Given the description of an element on the screen output the (x, y) to click on. 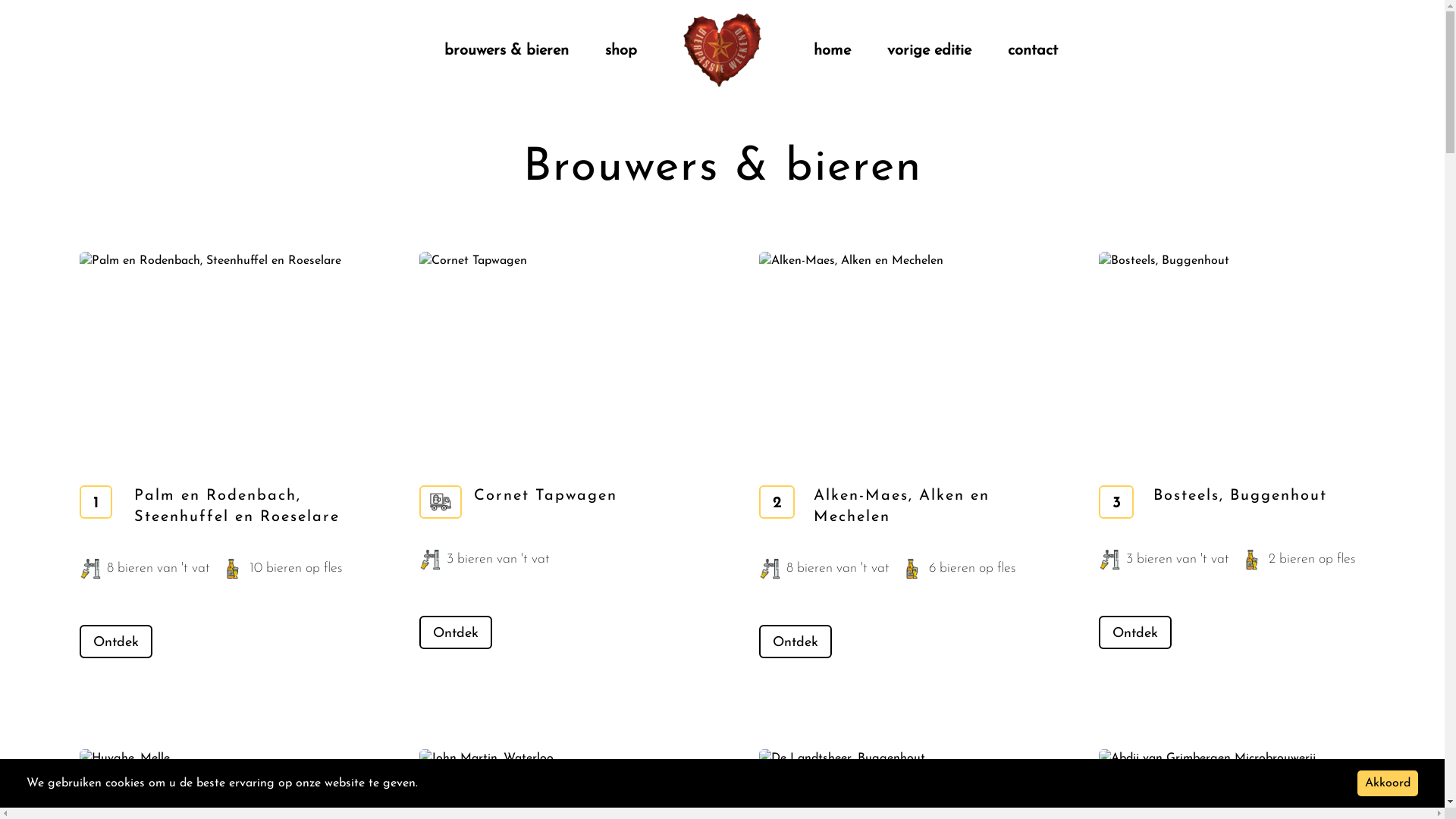
shop Element type: text (621, 50)
Ontdek Element type: text (1134, 632)
Ontdek Element type: text (114, 641)
home Element type: text (831, 50)
Ontdek Element type: text (454, 632)
vorige editie Element type: text (929, 50)
Ontdek Element type: text (794, 641)
contact Element type: text (1032, 50)
Akkoord Element type: text (1387, 783)
brouwers & bieren Element type: text (506, 50)
